Given the description of an element on the screen output the (x, y) to click on. 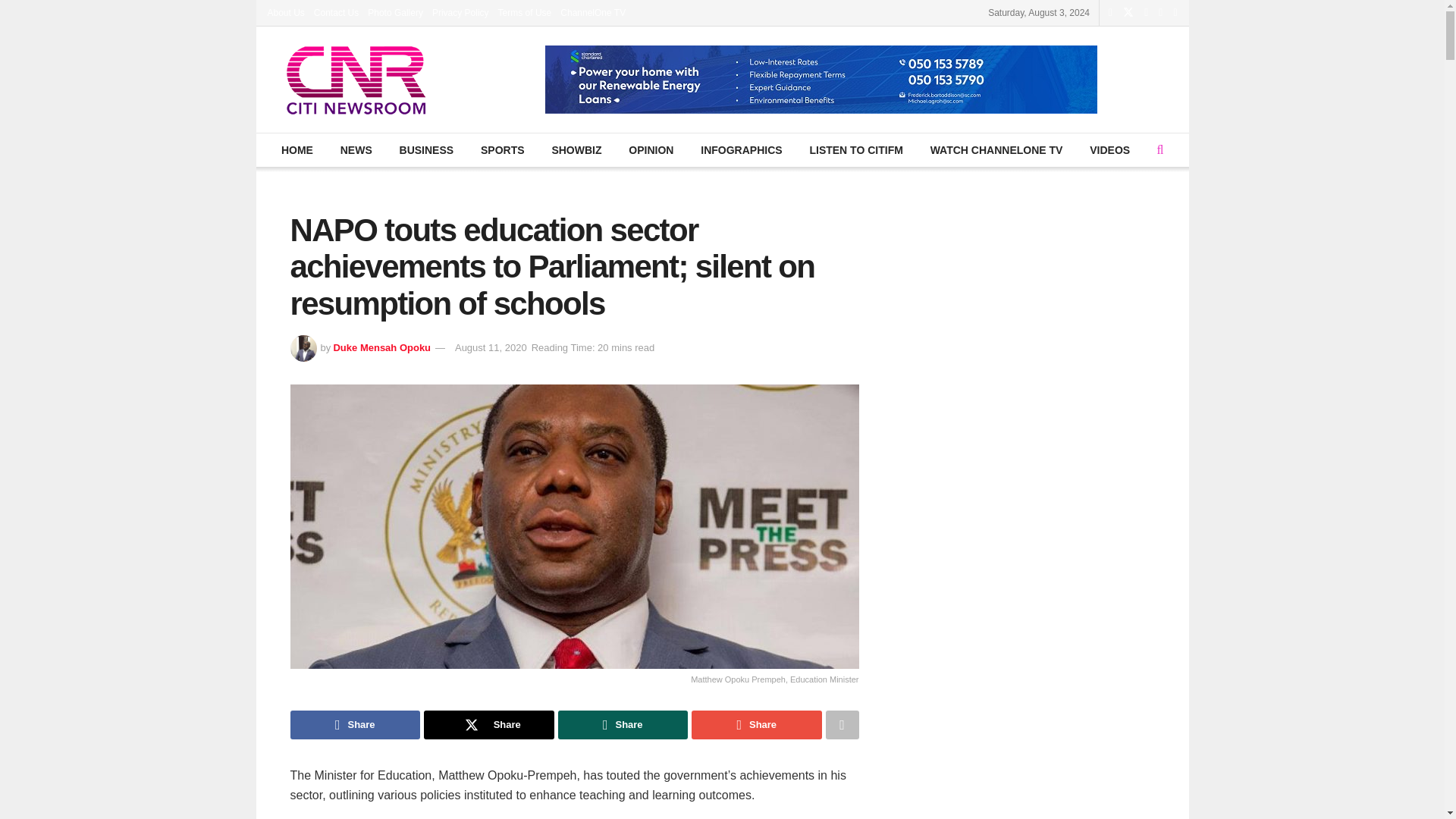
Terms of Use (524, 12)
OPINION (651, 150)
NEWS (355, 150)
SPORTS (502, 150)
Posts by Duke Mensah Opoku (381, 347)
BUSINESS (425, 150)
INFOGRAPHICS (740, 150)
About Us (285, 12)
HOME (296, 150)
Contact Us (336, 12)
SHOWBIZ (576, 150)
Privacy Policy (460, 12)
ChannelOne TV (593, 12)
LISTEN TO CITIFM (855, 150)
Photo Gallery (395, 12)
